Given the description of an element on the screen output the (x, y) to click on. 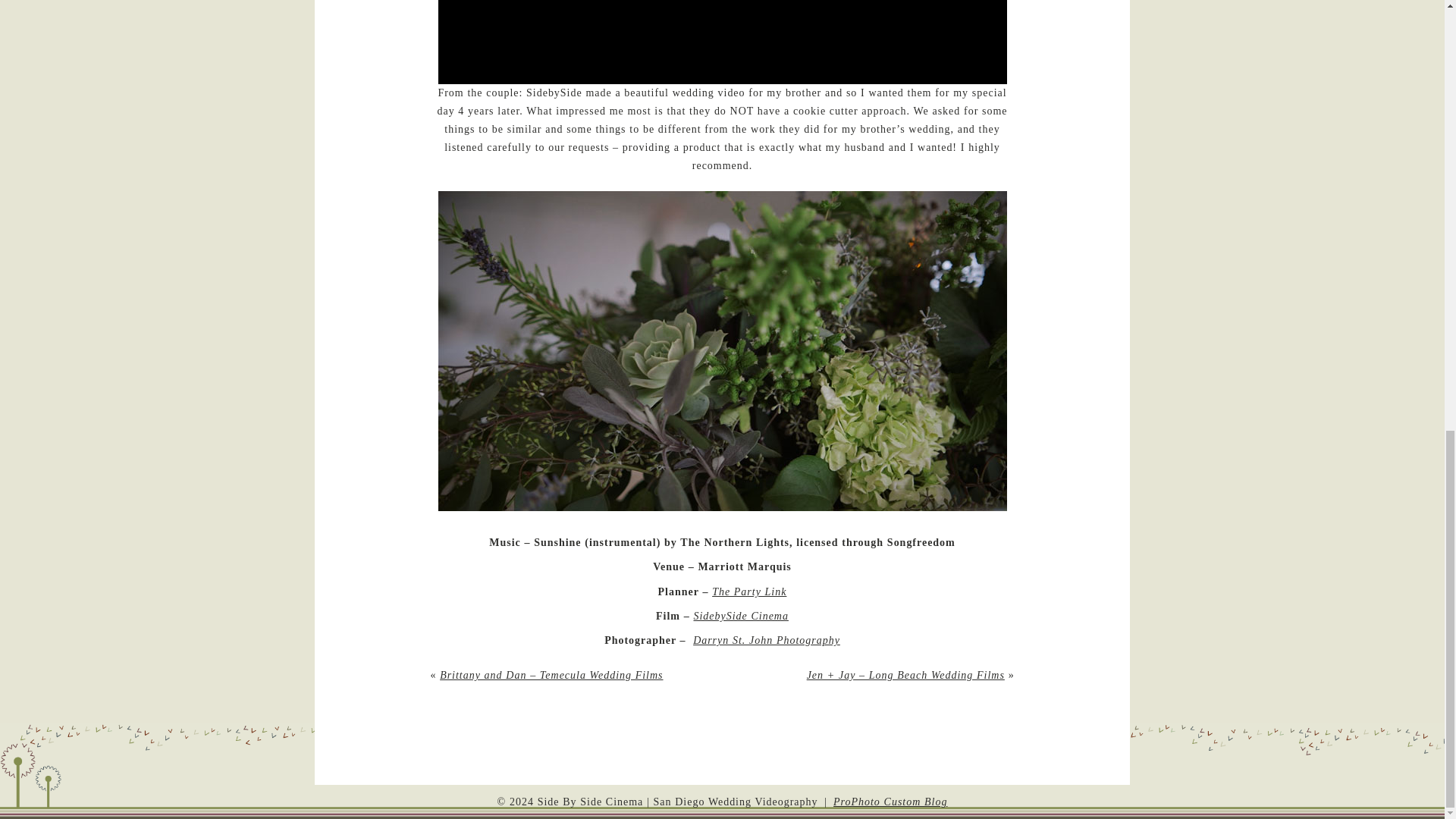
SidebySide Cinema (740, 615)
Darryn St. John Photography (766, 640)
ProPhoto Custom Blog (889, 801)
ProPhoto Photo Website (889, 801)
The Party Link (748, 591)
